Given the description of an element on the screen output the (x, y) to click on. 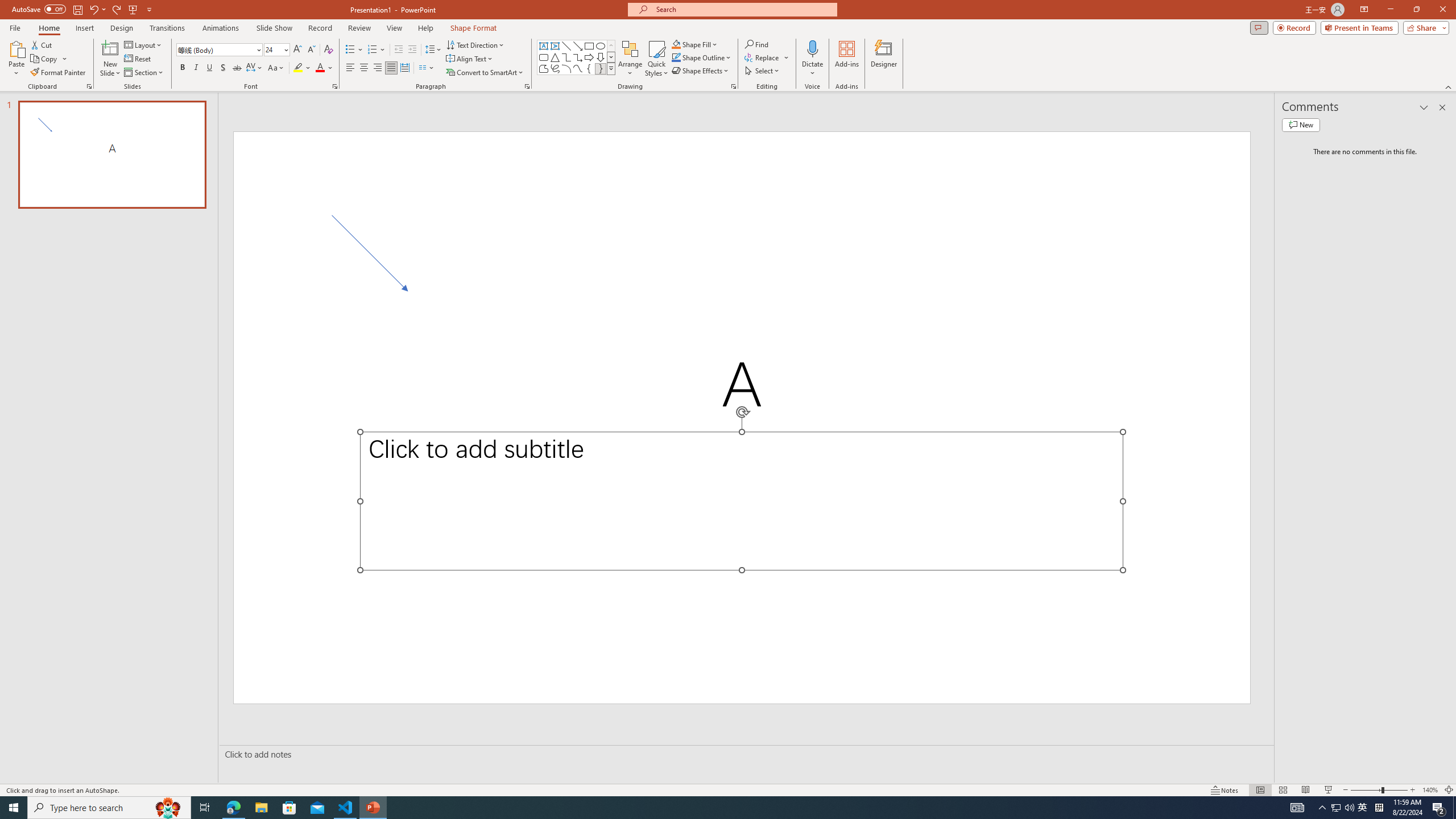
Arrow: Right (589, 57)
Align Left (349, 67)
Text Direction (476, 44)
Shadow (223, 67)
Freeform: Shape (543, 68)
